Given the description of an element on the screen output the (x, y) to click on. 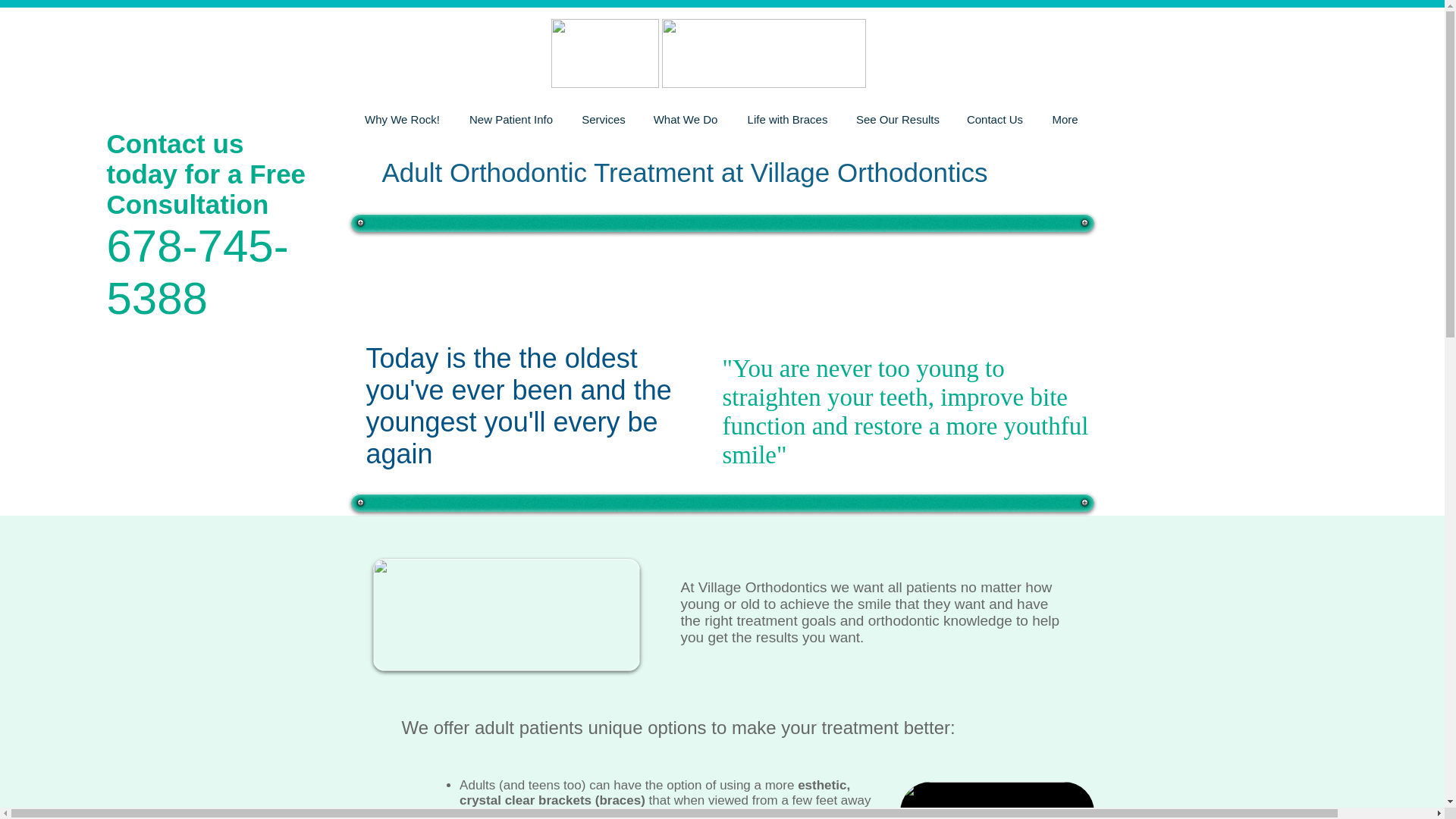
Why We Rock! (401, 119)
See Our Results (898, 119)
Life with Braces (787, 119)
New Patient Info (509, 119)
Services (604, 119)
Contact Us (994, 119)
